Given the description of an element on the screen output the (x, y) to click on. 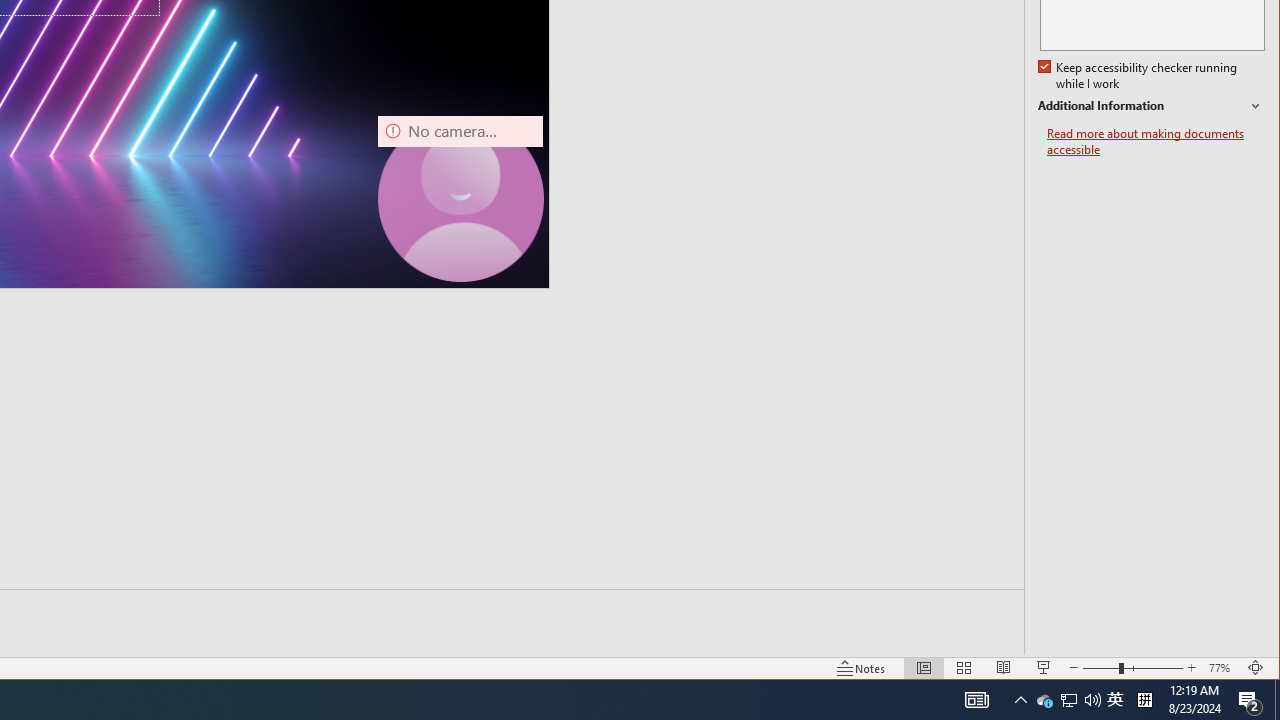
Additional Information (1151, 106)
